Given the description of an element on the screen output the (x, y) to click on. 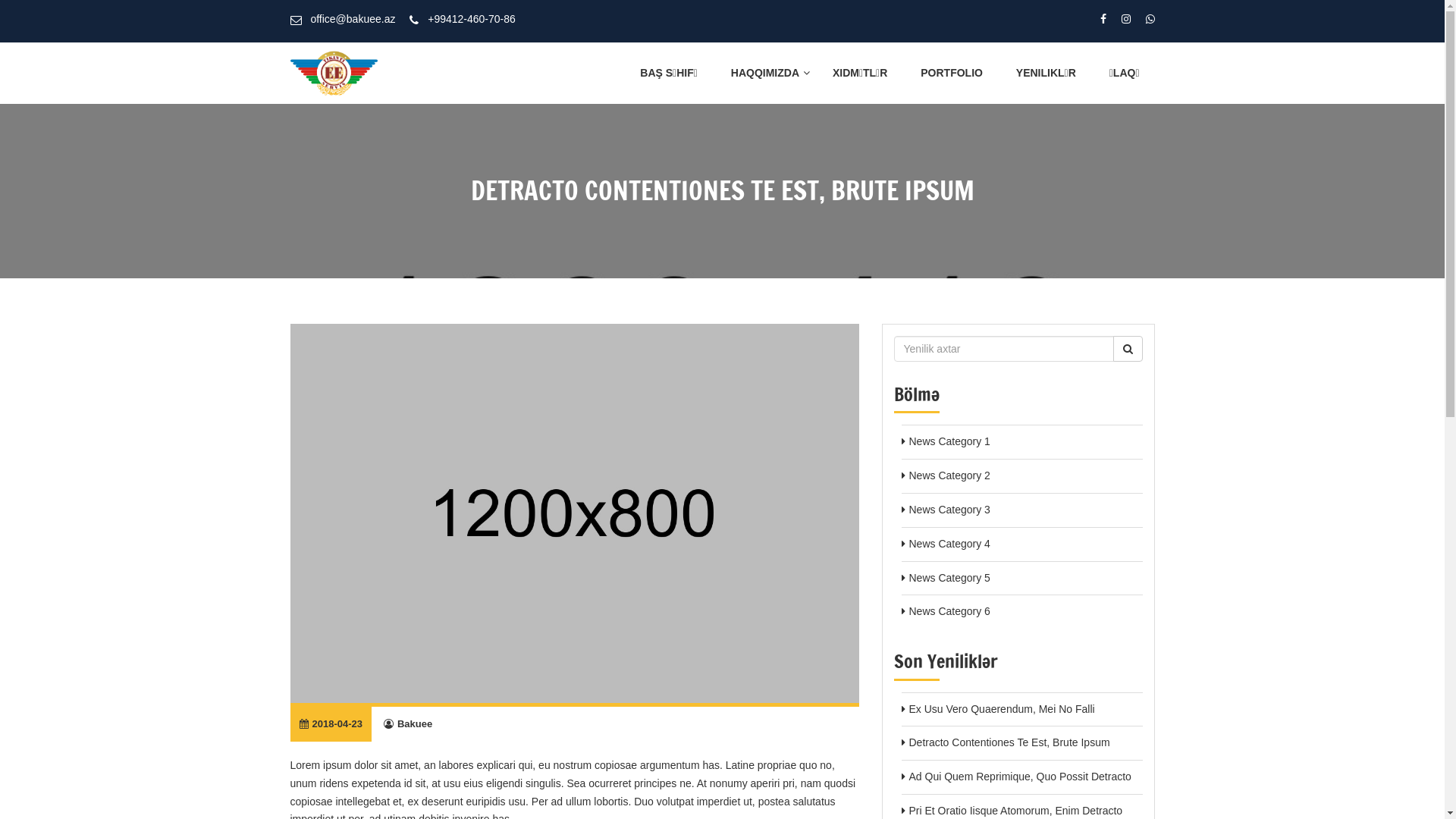
News Category 2 Element type: text (948, 475)
PORTFOLIO Element type: text (951, 72)
HAQQIMIZDA Element type: text (764, 72)
Ex Usu Vero Quaerendum, Mei No Falli Element type: text (1001, 708)
Pri Et Oratio Iisque Atomorum, Enim Detracto Element type: text (1015, 810)
Detracto Contentiones Te Est, Brute Ipsum Element type: text (1008, 742)
News Category 1 Element type: text (948, 441)
News Category 3 Element type: text (948, 509)
News Category 5 Element type: text (948, 577)
News Category 6 Element type: text (948, 611)
Ad Qui Quem Reprimique, Quo Possit Detracto Element type: text (1019, 776)
News Category 4 Element type: text (948, 543)
